Given the description of an element on the screen output the (x, y) to click on. 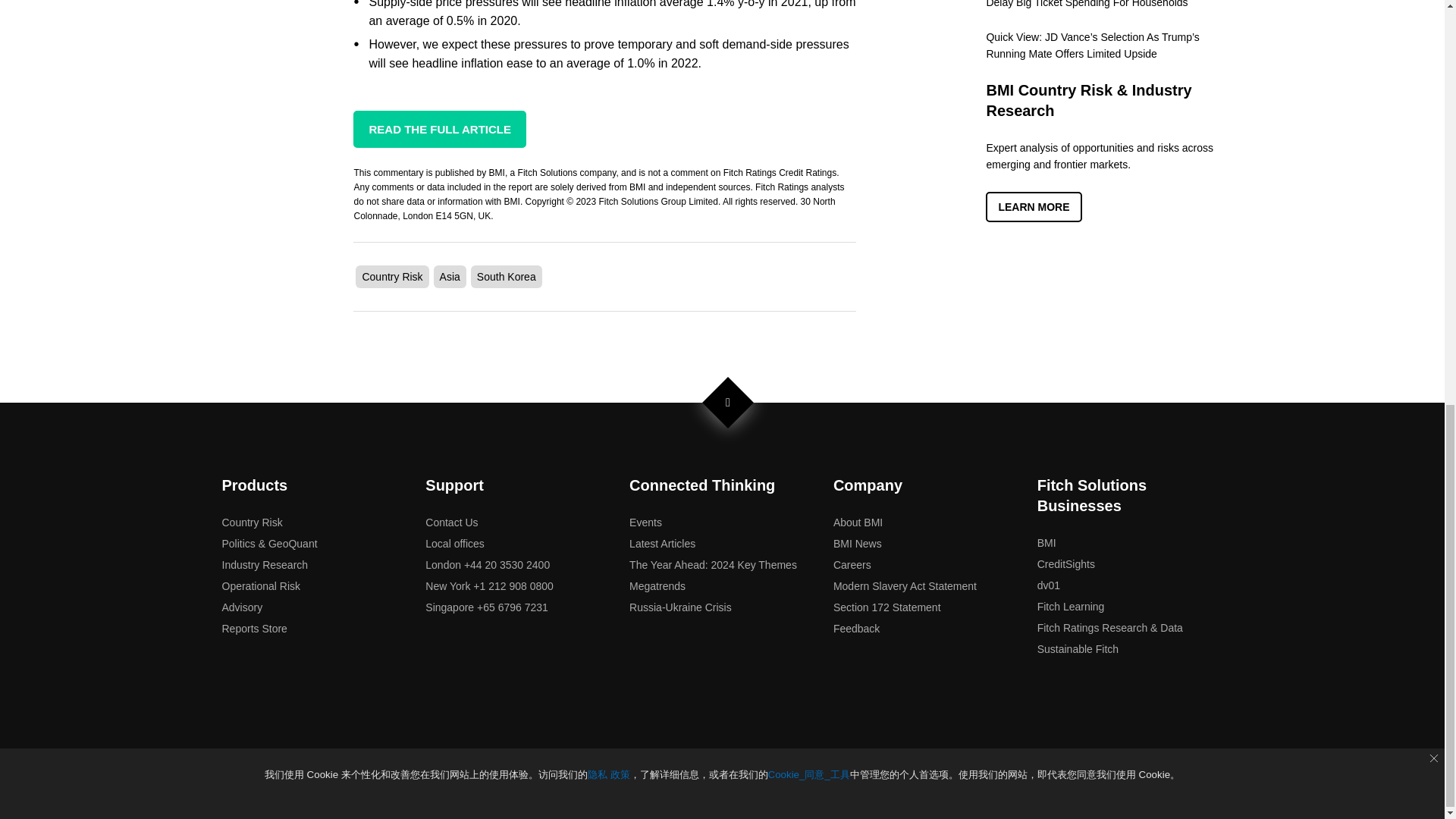
Reports Store (253, 628)
Advisory (241, 607)
READ THE FULL ARTICLE (439, 129)
Operational Risk (260, 585)
Industry Research (264, 564)
Country Risk (251, 522)
Country Risk (391, 276)
South Korea (506, 276)
LEARN MORE (1033, 206)
Asia (449, 276)
